Given the description of an element on the screen output the (x, y) to click on. 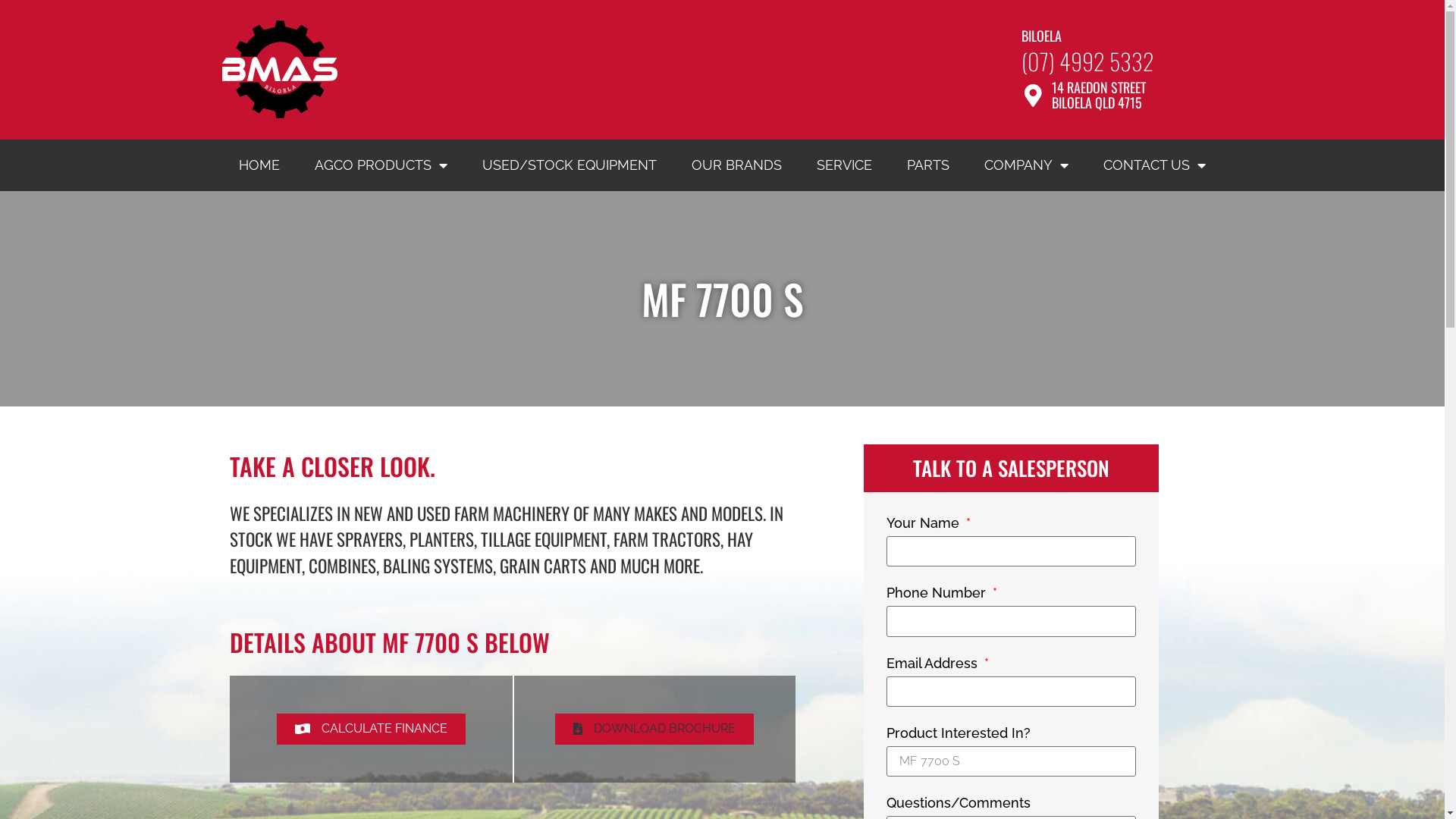
AGCO PRODUCTS Element type: text (380, 164)
OUR BRANDS Element type: text (736, 164)
SERVICE Element type: text (844, 164)
PARTS Element type: text (927, 164)
DOWNLOAD BROCHURE Element type: text (654, 728)
COMPANY Element type: text (1025, 164)
(07) 4992 5332 Element type: text (1087, 60)
CALCULATE FINANCE Element type: text (370, 728)
HOME Element type: text (259, 164)
USED/STOCK EQUIPMENT Element type: text (569, 164)
14 RAEDON STREET
BILOELA QLD 4715 Element type: text (1098, 94)
CONTACT US Element type: text (1154, 164)
